Given the description of an element on the screen output the (x, y) to click on. 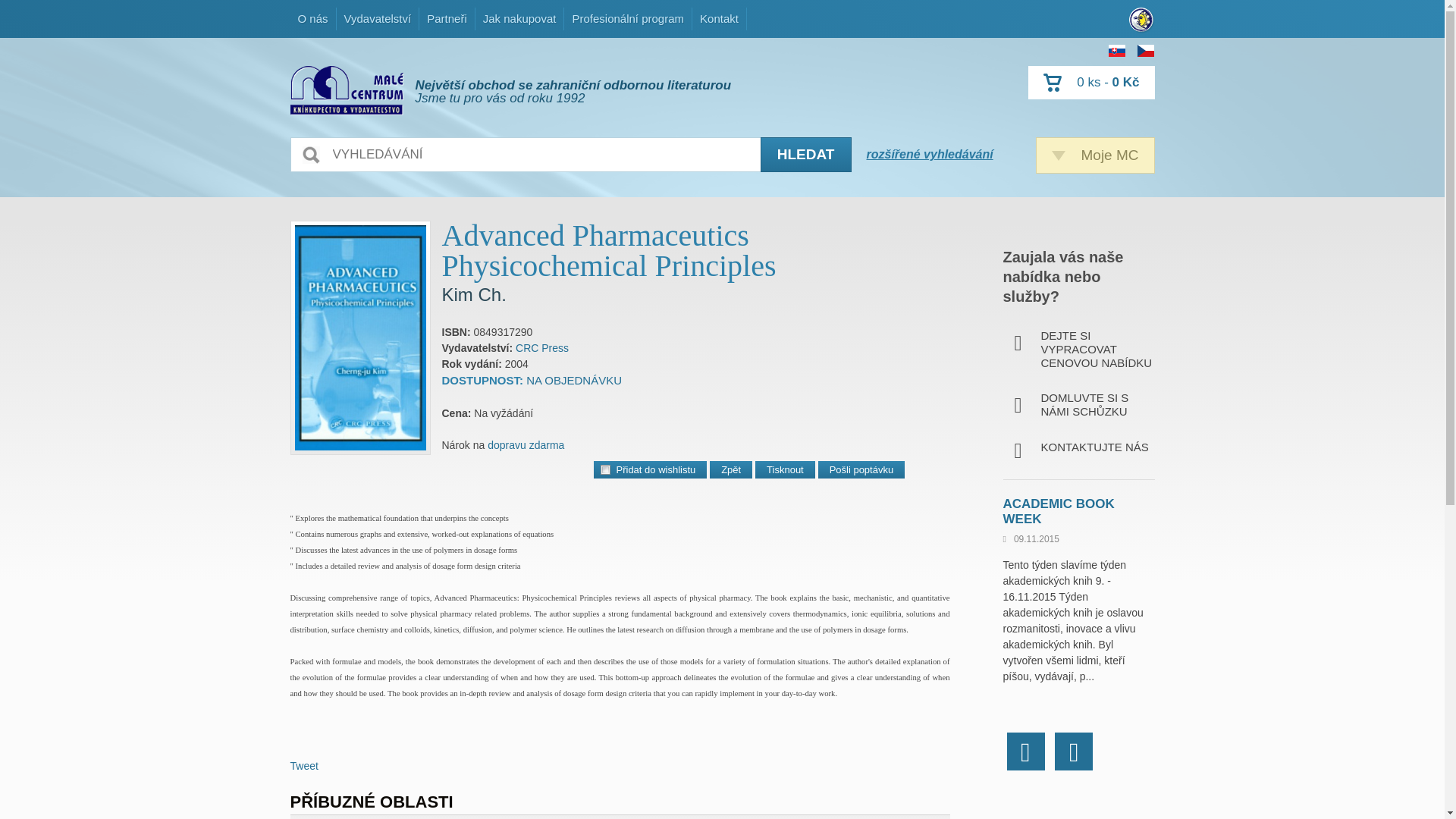
dopravu zdarma (525, 444)
Facebook (1026, 751)
Kontakt (1094, 155)
Jak nakupovat (719, 18)
CRC Press (519, 18)
Hledat (542, 347)
Hledat (805, 154)
Hledat (805, 154)
Hledat (805, 154)
